Given the description of an element on the screen output the (x, y) to click on. 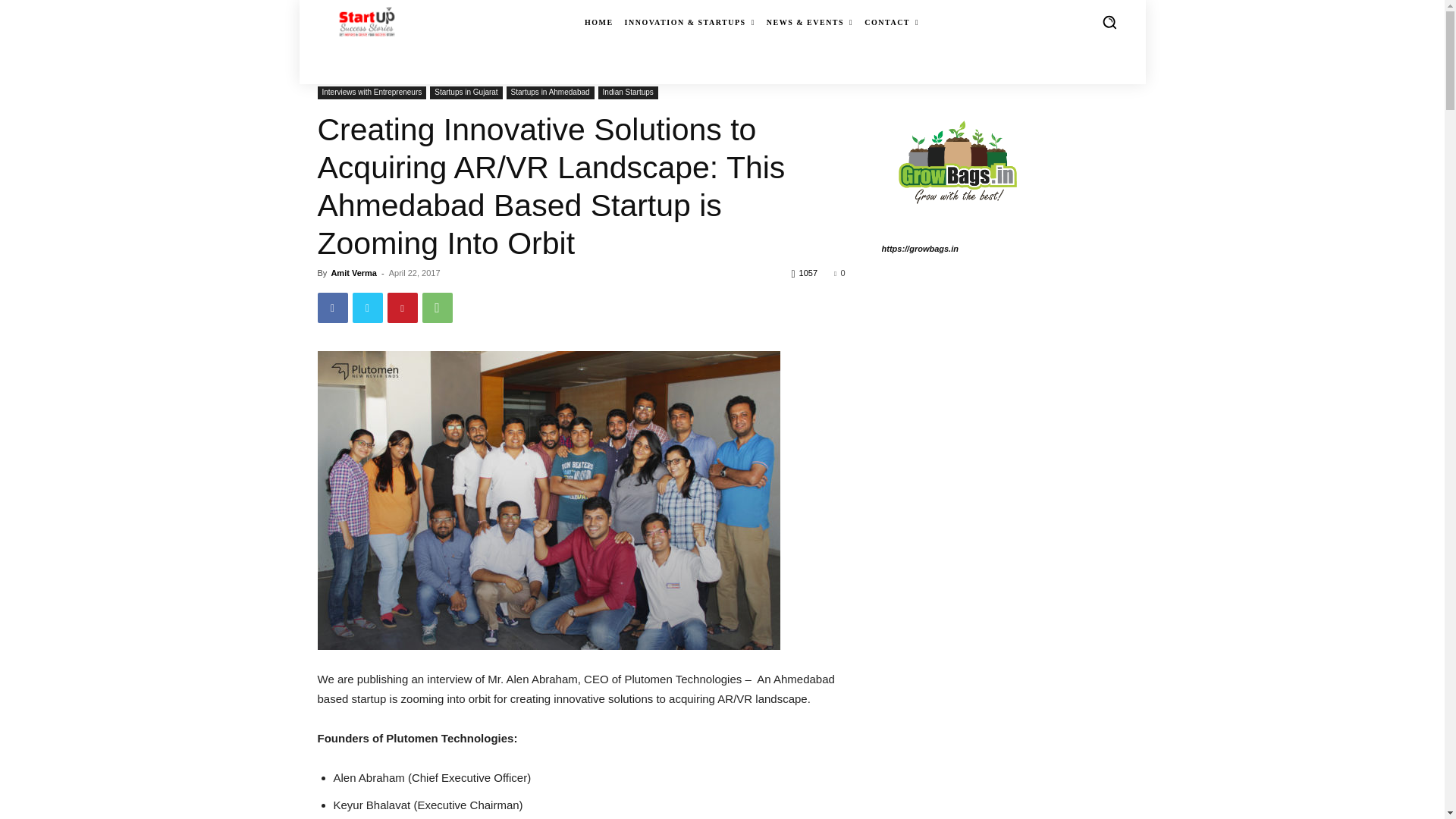
Interviews with Entrepreneurs (551, 71)
Home (328, 71)
CONTACT (891, 22)
Twitter (366, 307)
Interviews with Entrepreneurs (371, 92)
View all posts in Interviews with Entrepreneurs (416, 71)
Facebook (332, 307)
WhatsApp (436, 307)
View all posts in Interviews with Entrepreneurs (551, 71)
Interviews with Entrepreneurs (416, 71)
Pinterest (401, 307)
HOME (598, 22)
